Given the description of an element on the screen output the (x, y) to click on. 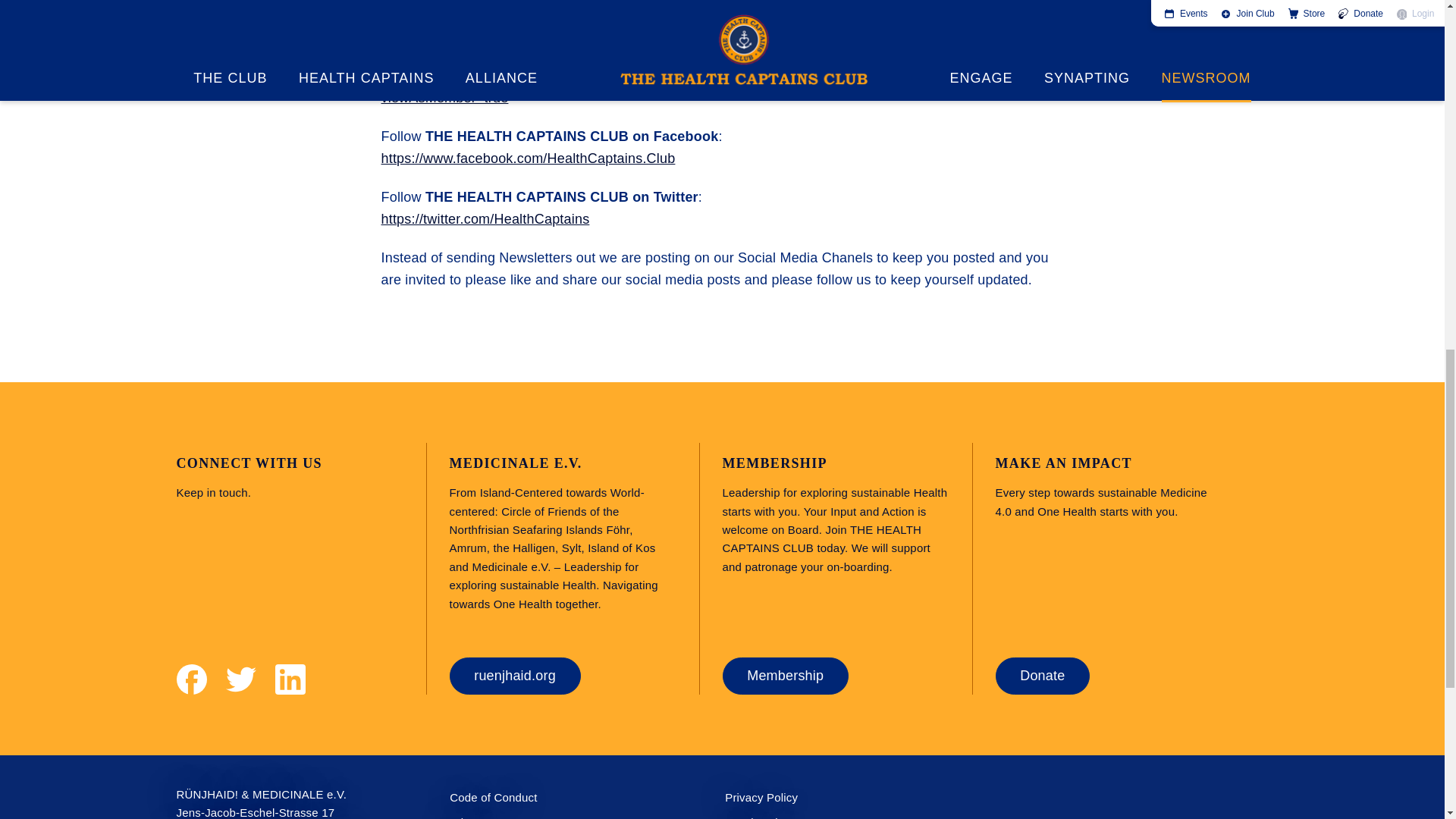
Donate (1042, 675)
ruenjhaid.org (514, 675)
Membership (785, 675)
